Given the description of an element on the screen output the (x, y) to click on. 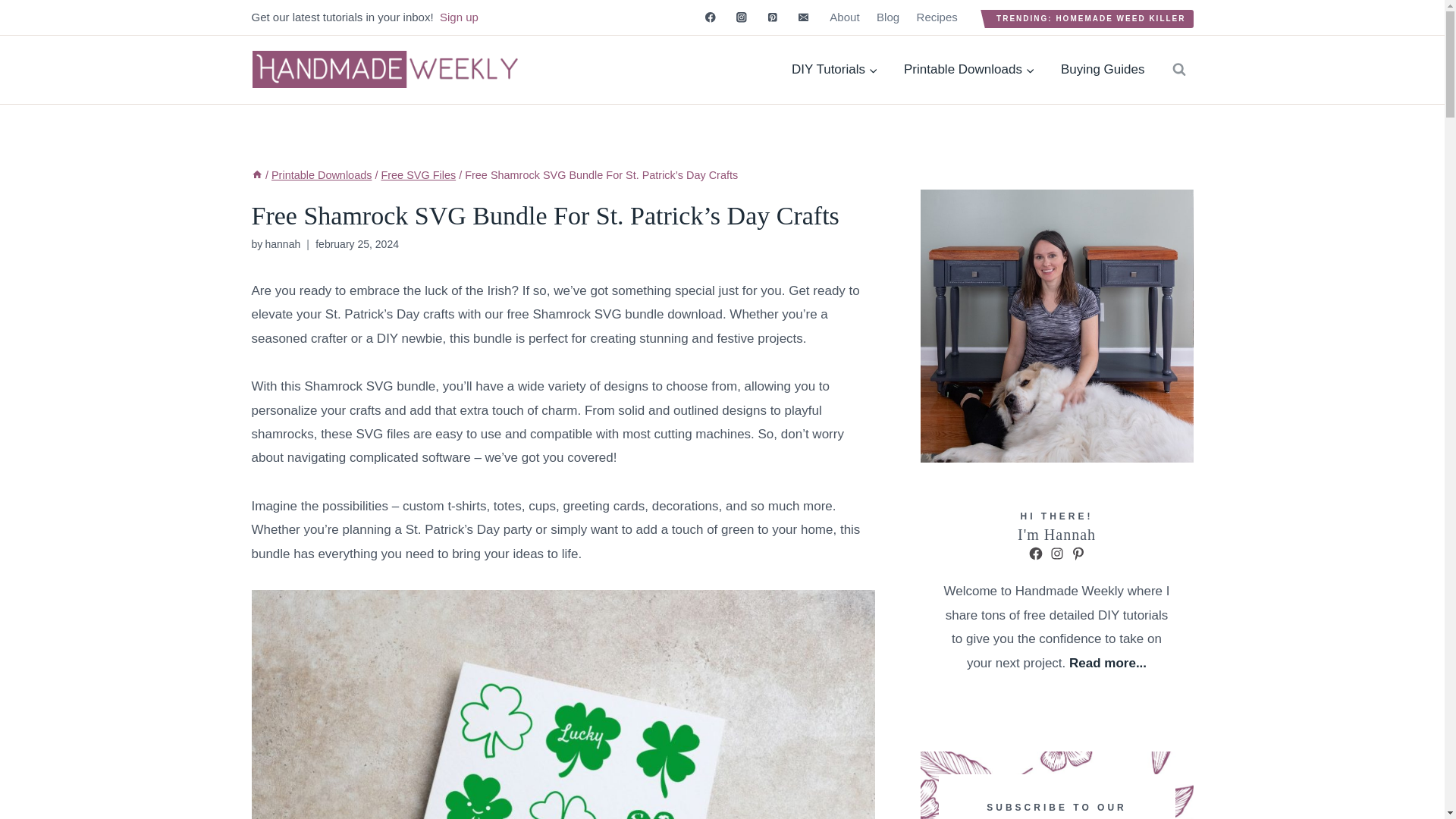
About (844, 17)
Free SVG Files (417, 174)
Buying Guides (1102, 69)
Printable Downloads (320, 174)
TRENDING: HOMEMADE WEED KILLER (1090, 18)
Sign up (459, 16)
DIY Tutorials (834, 69)
Blog (887, 17)
Recipes (936, 17)
Printable Downloads (969, 69)
hannah (281, 244)
